Given the description of an element on the screen output the (x, y) to click on. 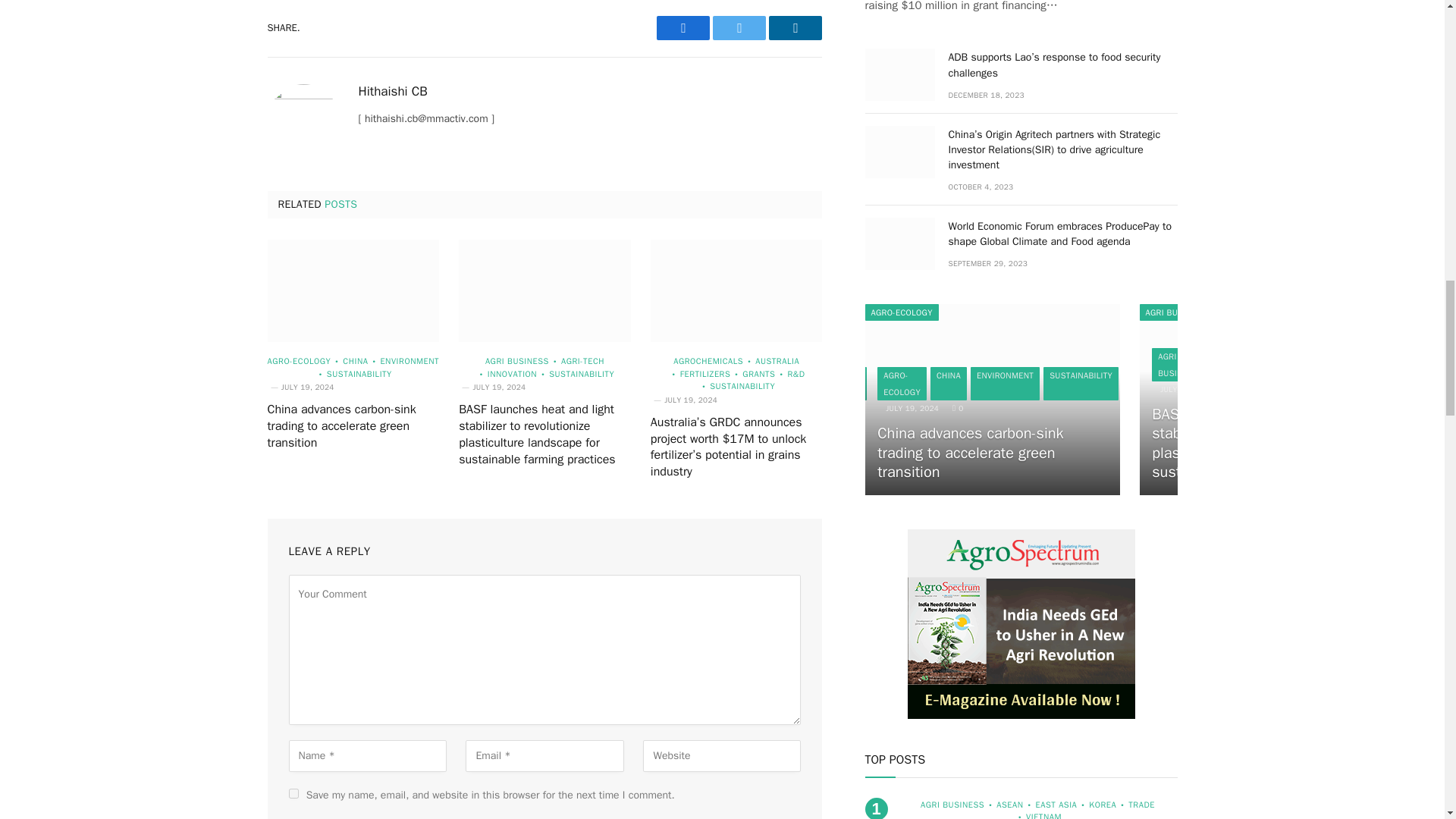
yes (293, 793)
